Given the description of an element on the screen output the (x, y) to click on. 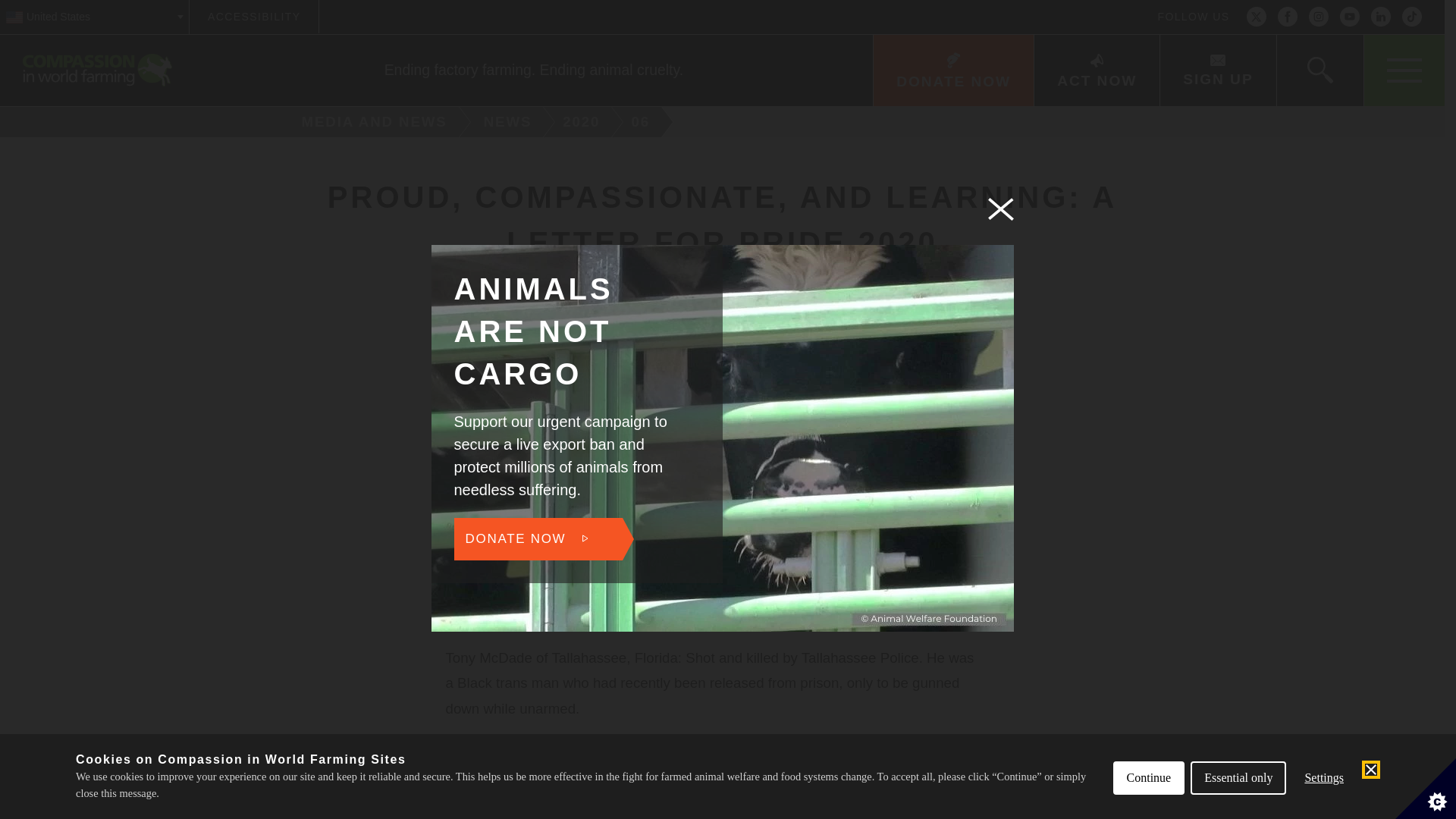
2020 (583, 122)
Settings (1323, 806)
Twitter (1255, 16)
MEDIA AND NEWS (368, 122)
Facebook (1287, 16)
YouTube (1350, 16)
ACT NOW (1095, 70)
United States (94, 16)
TikTok (1412, 16)
Essential only (1238, 807)
SIGN UP (1216, 70)
NEWS (510, 122)
ACCESSIBILITY (253, 16)
DONATE NOW (952, 70)
Skip to Content (778, 1)
